Given the description of an element on the screen output the (x, y) to click on. 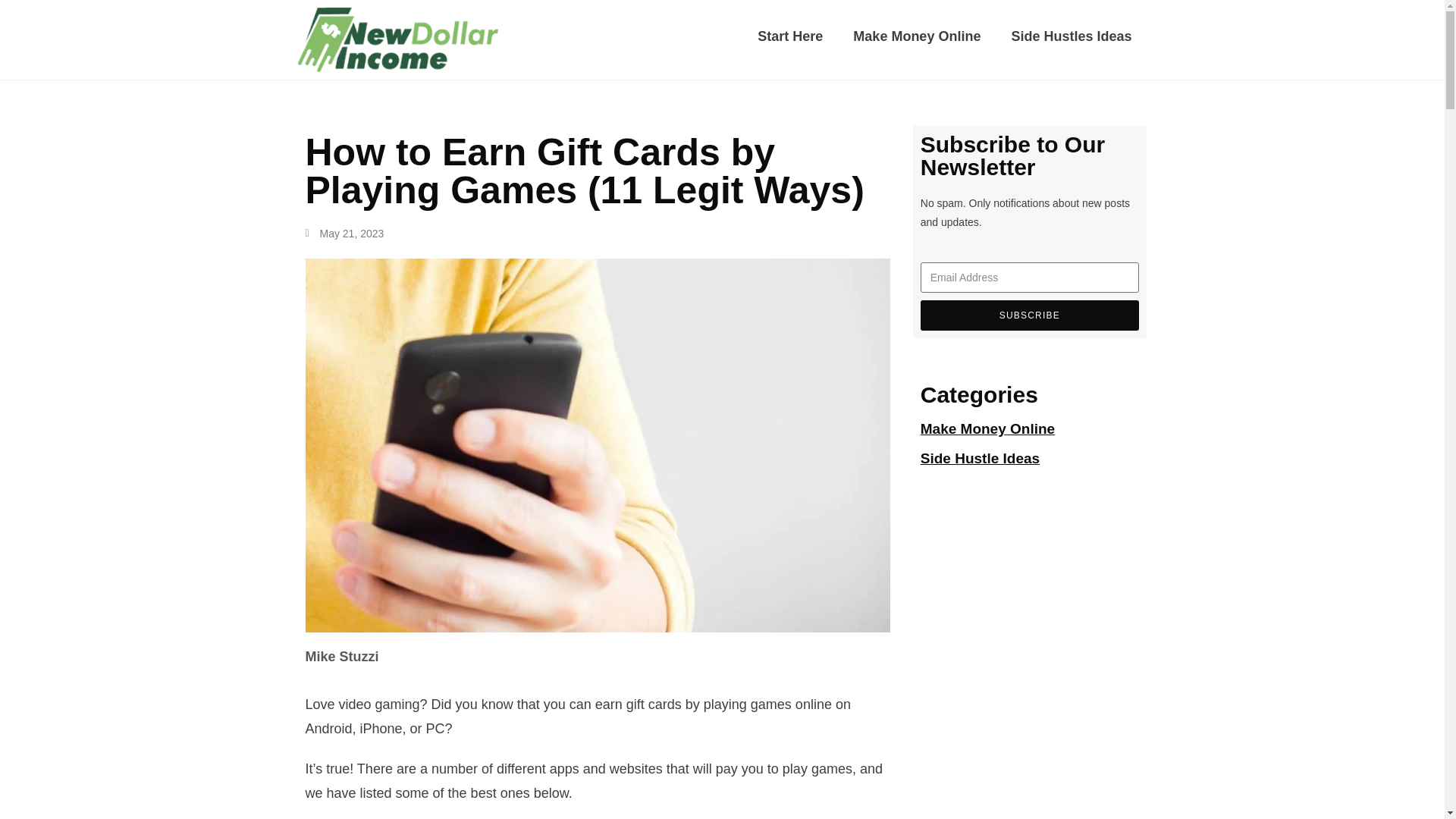
Make Money Online (916, 36)
Start Here (790, 36)
Side Hustle Ideas (979, 458)
Make Money Online (987, 428)
Mike Stuzzi (596, 656)
Side Hustles Ideas (1071, 36)
SUBSCRIBE (1029, 315)
